Given the description of an element on the screen output the (x, y) to click on. 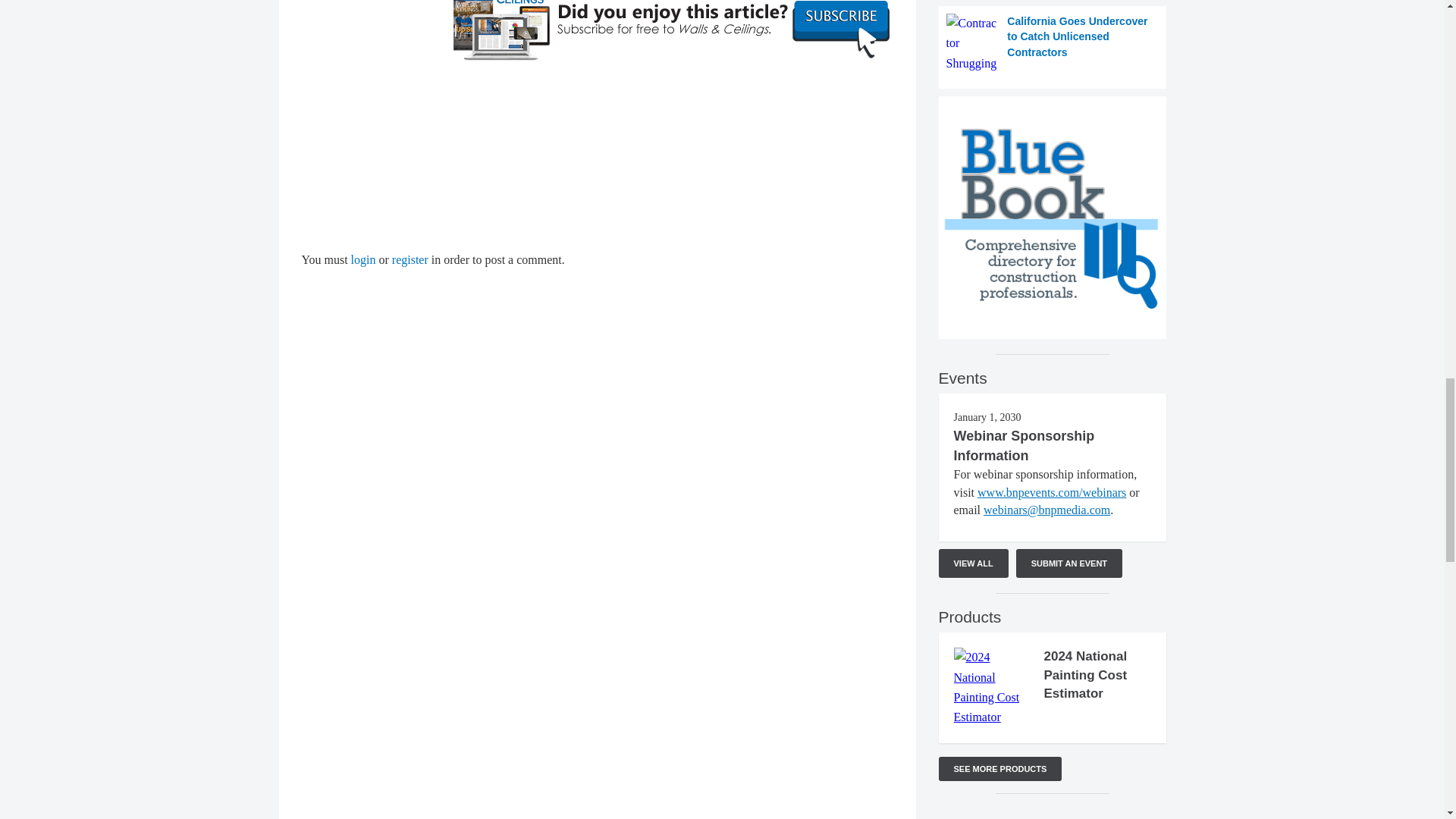
Interaction questions (597, 156)
California Goes Undercover to Catch Unlicensed Contractors (1052, 43)
Webinar Sponsorship Information (1023, 445)
Interaction questions (1052, 814)
